Given the description of an element on the screen output the (x, y) to click on. 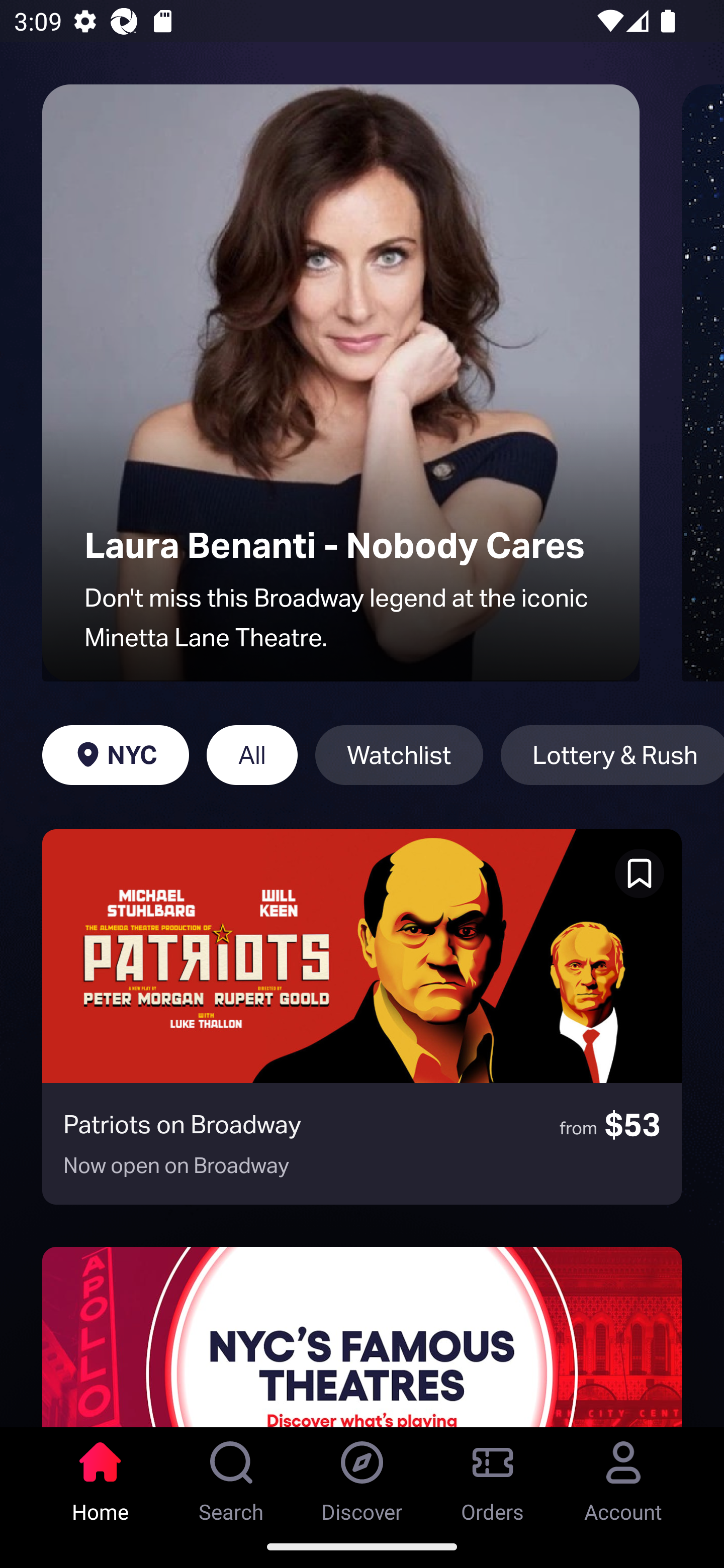
NYC (114, 754)
All (251, 754)
Watchlist (398, 754)
Lottery & Rush (612, 754)
Patriots on Broadway from $53 Now open on Broadway (361, 1016)
Search (230, 1475)
Discover (361, 1475)
Orders (492, 1475)
Account (623, 1475)
